Given the description of an element on the screen output the (x, y) to click on. 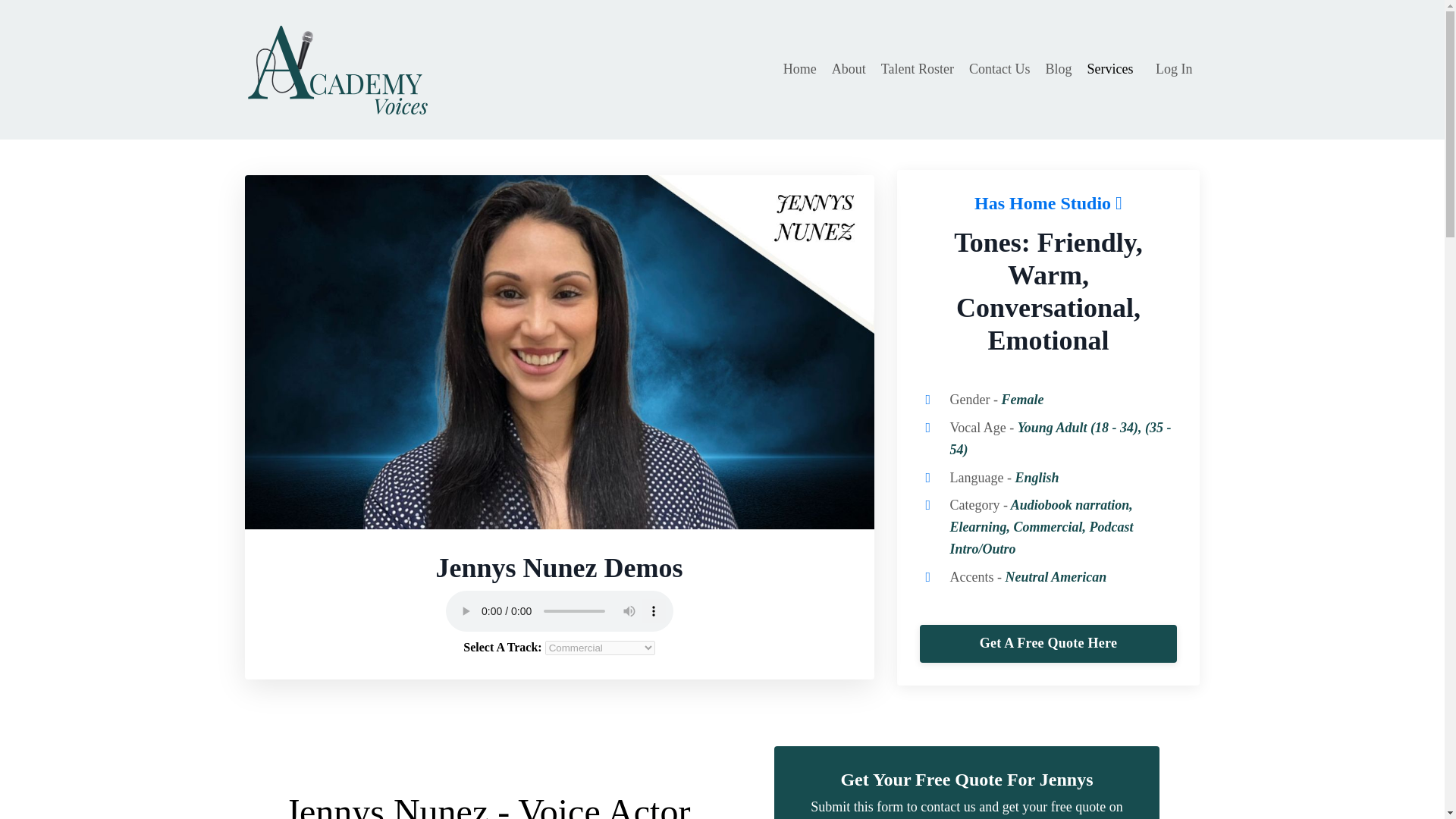
Contact Us (999, 69)
Get A Free Quote Here (1047, 643)
Talent Roster (916, 69)
About (848, 69)
Services (1113, 69)
Blog (1058, 69)
Home (799, 69)
Log In (1174, 68)
